Given the description of an element on the screen output the (x, y) to click on. 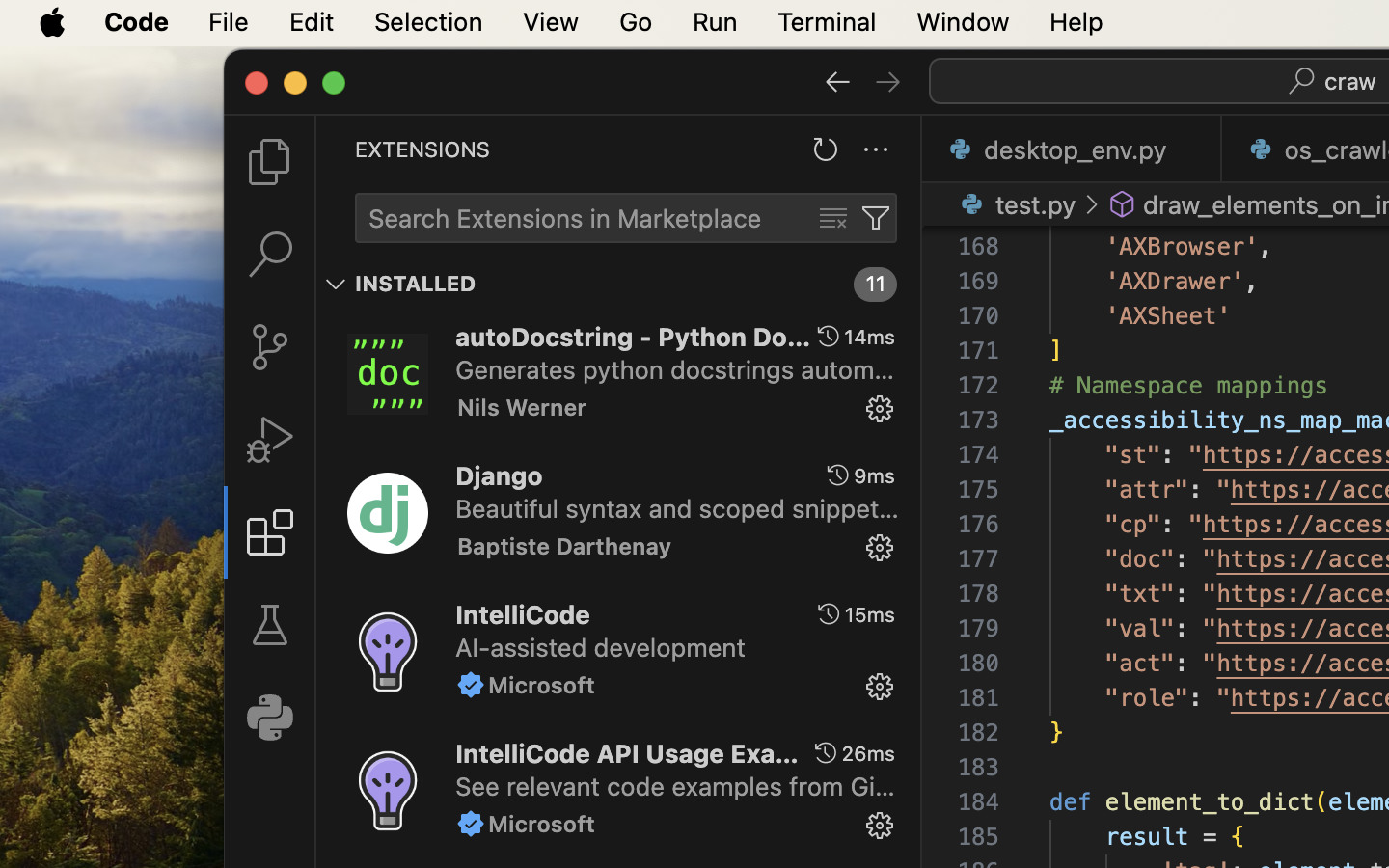
1  Element type: AXRadioButton (269, 532)
 Element type: AXStaticText (828, 336)
autoDocstring - Python Docstring Generator Element type: AXStaticText (633, 336)
Django Element type: AXStaticText (499, 475)
14ms Element type: AXStaticText (869, 336)
